Given the description of an element on the screen output the (x, y) to click on. 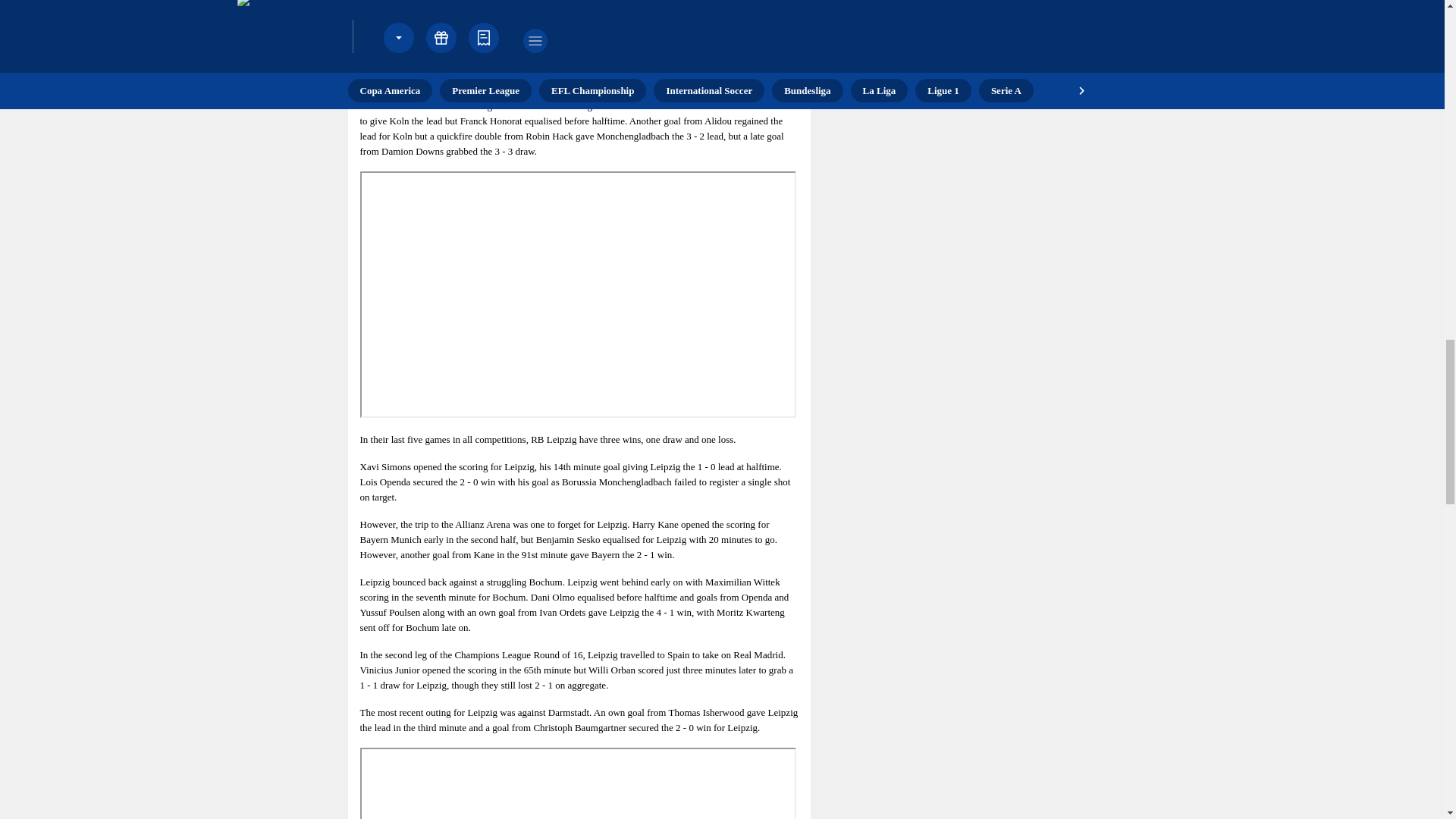
Youtube Video (576, 294)
Youtube Video (576, 783)
